Given the description of an element on the screen output the (x, y) to click on. 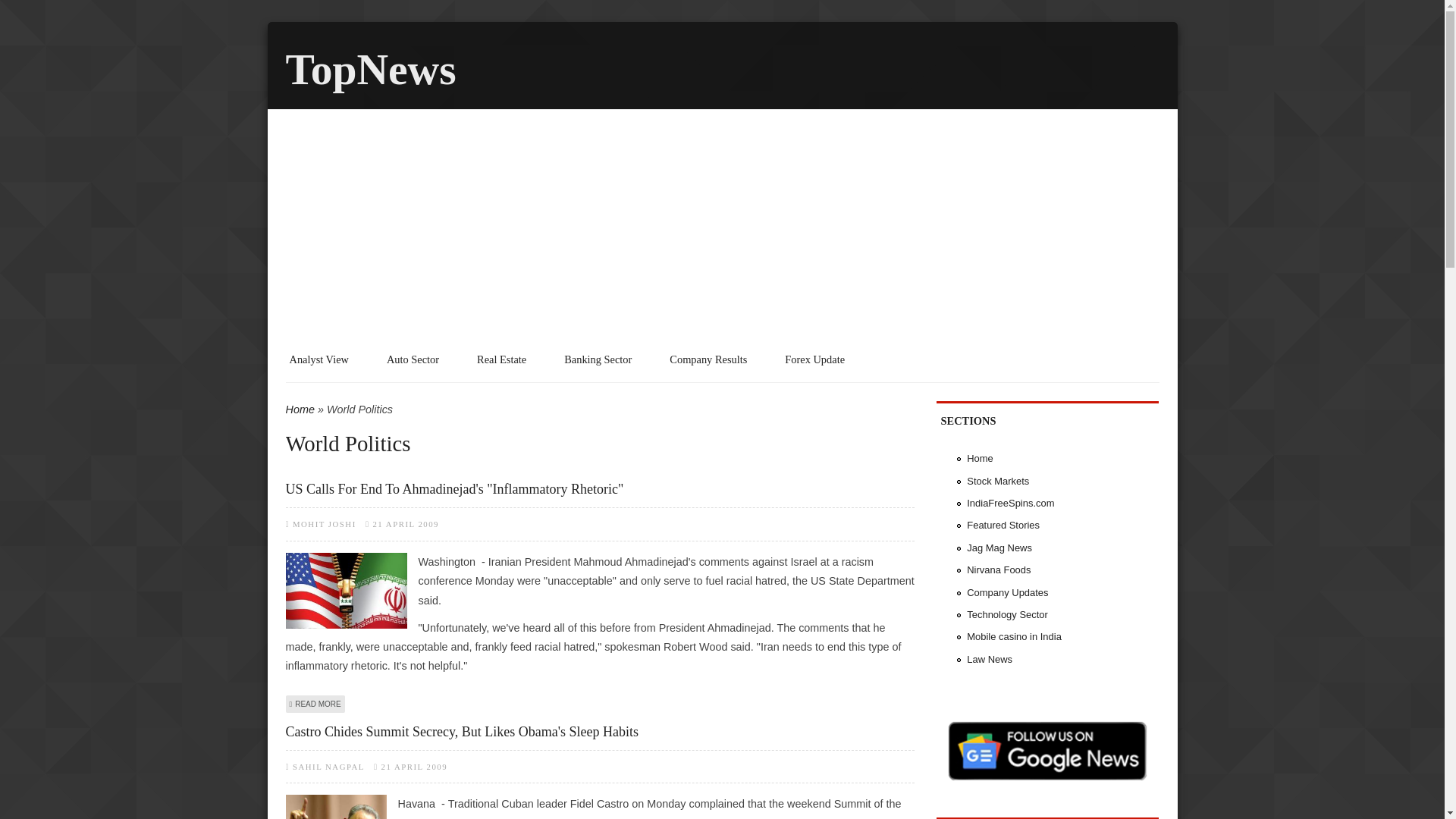
US Calls For End To Ahmadinejad'S "Inflammatory Rhetoric" (599, 489)
Auto Sector (413, 358)
Forex Update (814, 358)
View user profile. (328, 766)
Home (299, 409)
Featured Stories (1002, 524)
US calls for end to Ahmadinejad's "inflammatory rhetoric"  (314, 704)
Company Results (707, 358)
IndiaFreeSpins.com (1010, 502)
Stock Markets (997, 480)
TopNews (370, 69)
Banking Sector (597, 358)
Analyst View (319, 358)
